Given the description of an element on the screen output the (x, y) to click on. 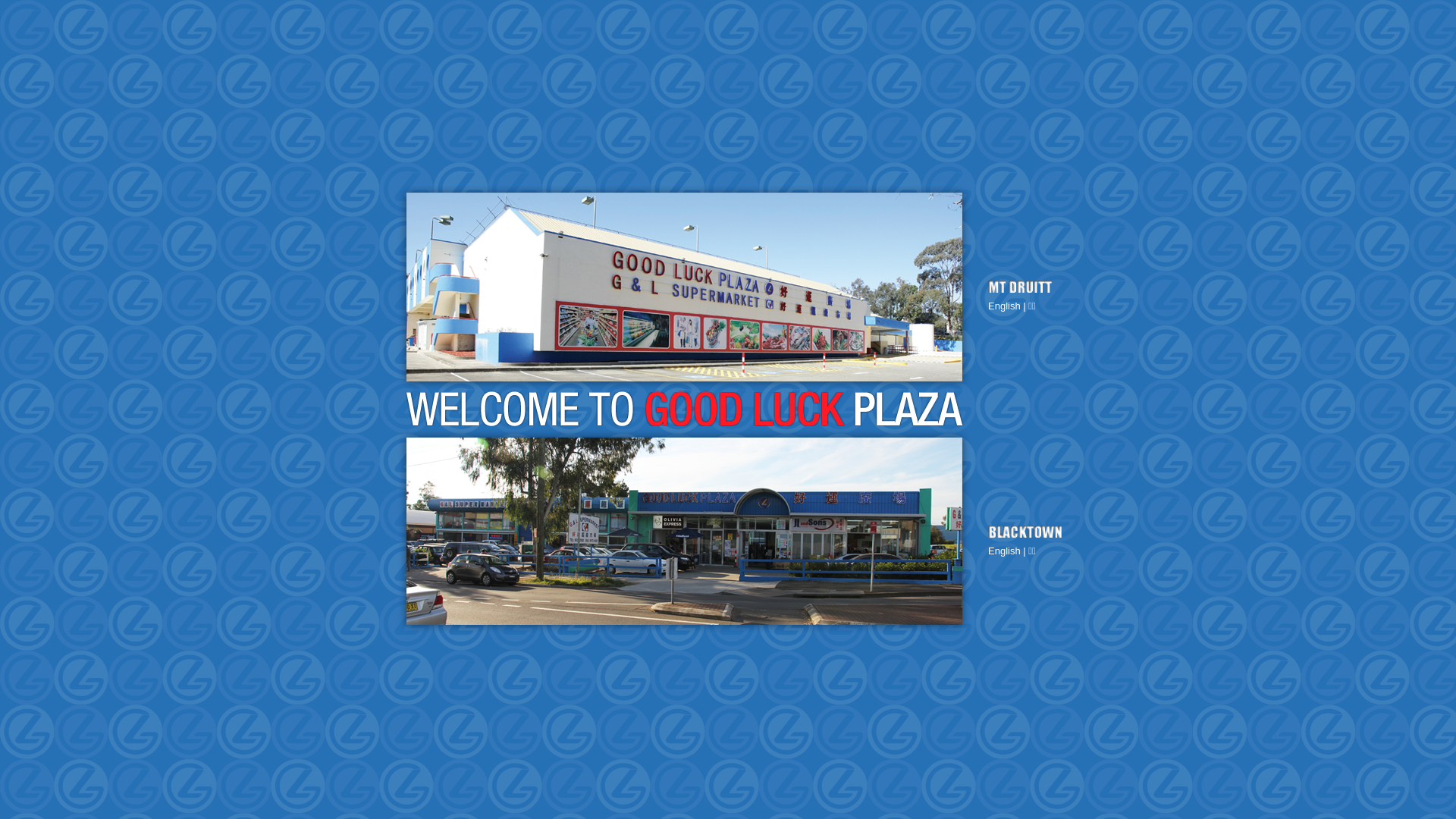
English Element type: text (1004, 550)
English Element type: text (1004, 305)
